Given the description of an element on the screen output the (x, y) to click on. 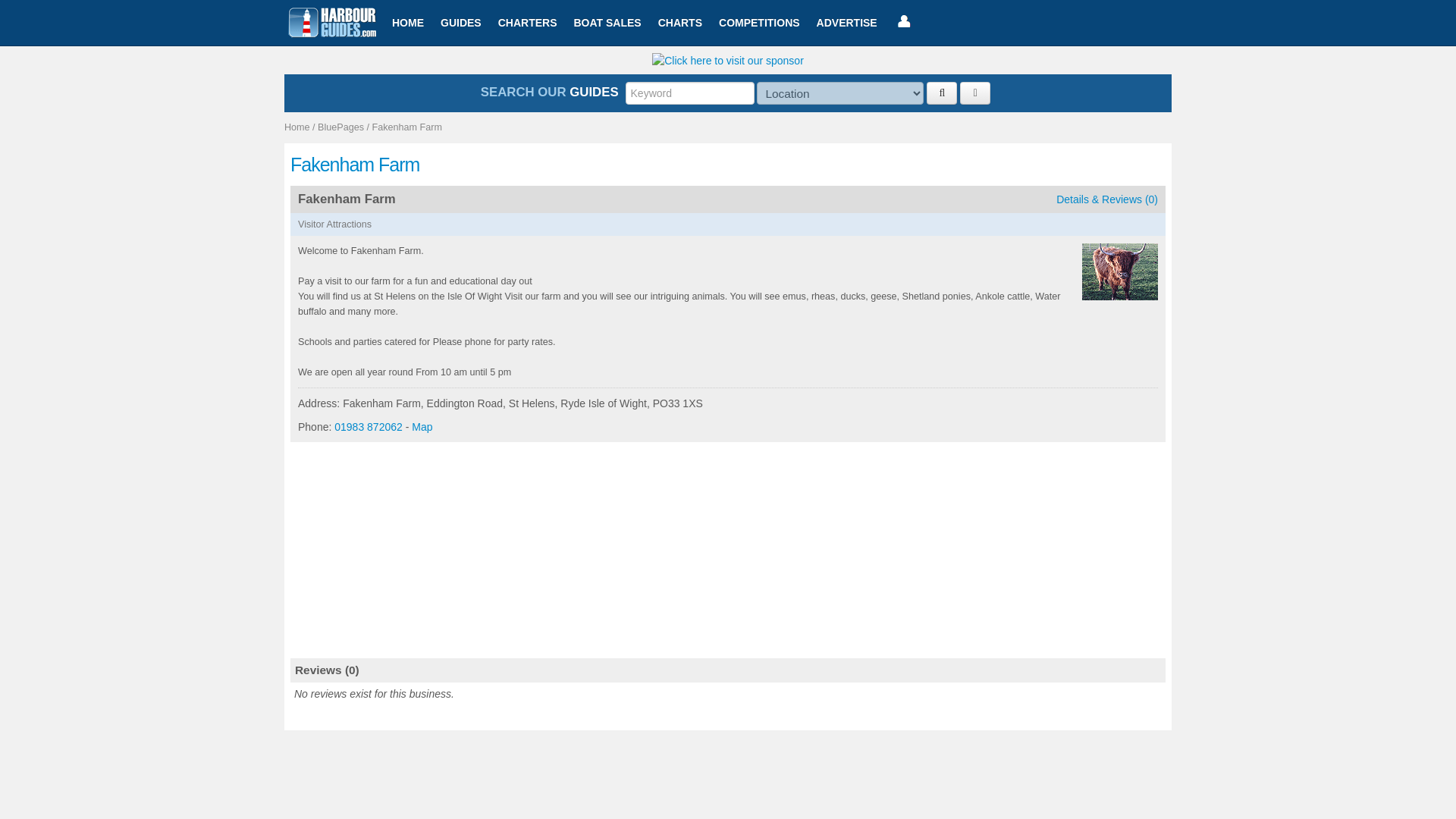
Fakenham Farm (727, 164)
Advertise (846, 22)
CHARTERS (527, 22)
Boat Sales (606, 22)
01983 872062 (368, 426)
Competitions (759, 22)
Guides (460, 22)
GUIDES (460, 22)
Charters (527, 22)
Map (422, 426)
BluePages (340, 127)
Fakenham Farm (407, 127)
Home (296, 127)
BOAT SALES (606, 22)
CHARTS (679, 22)
